Given the description of an element on the screen output the (x, y) to click on. 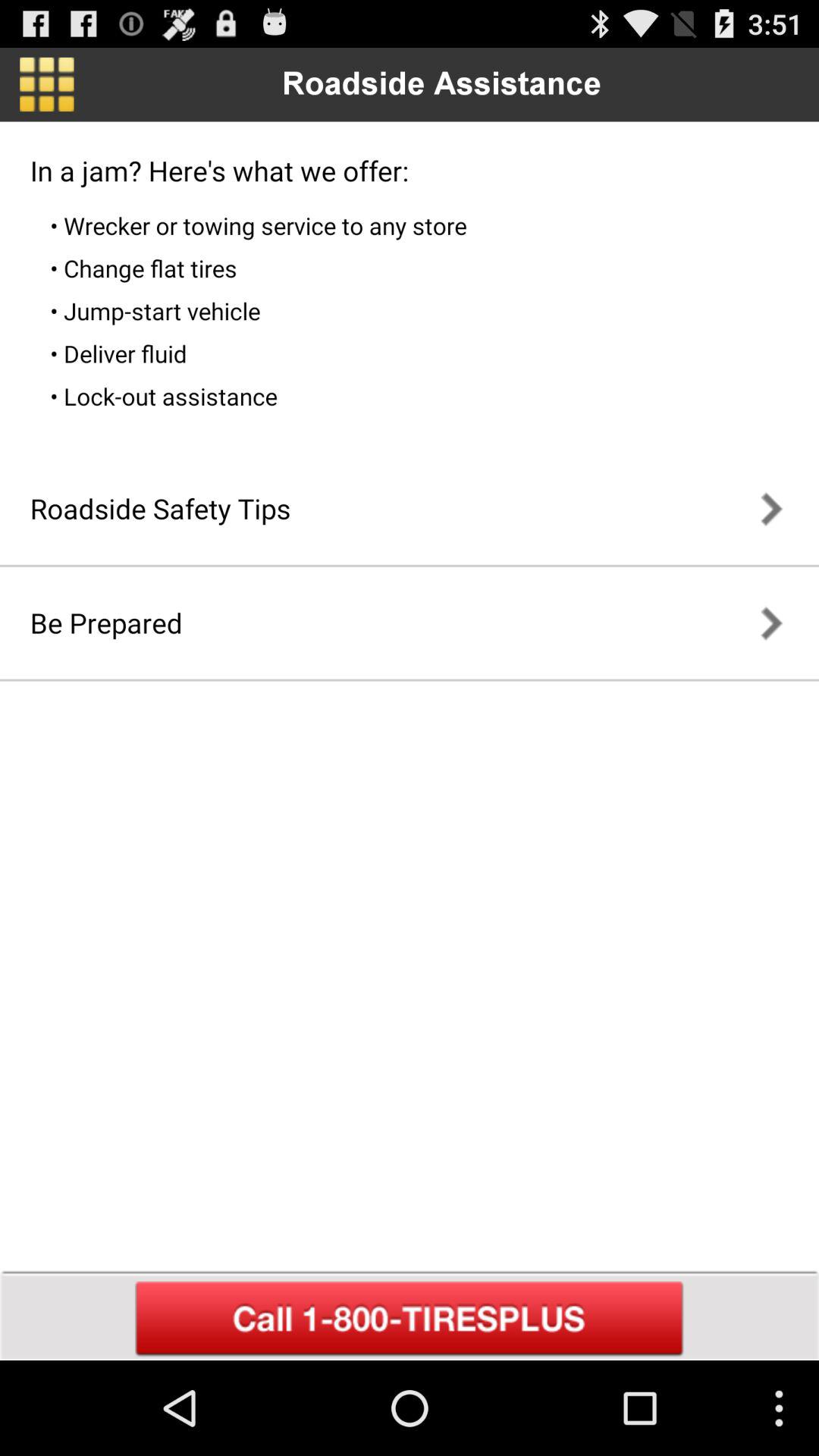
call provider (409, 1319)
